Given the description of an element on the screen output the (x, y) to click on. 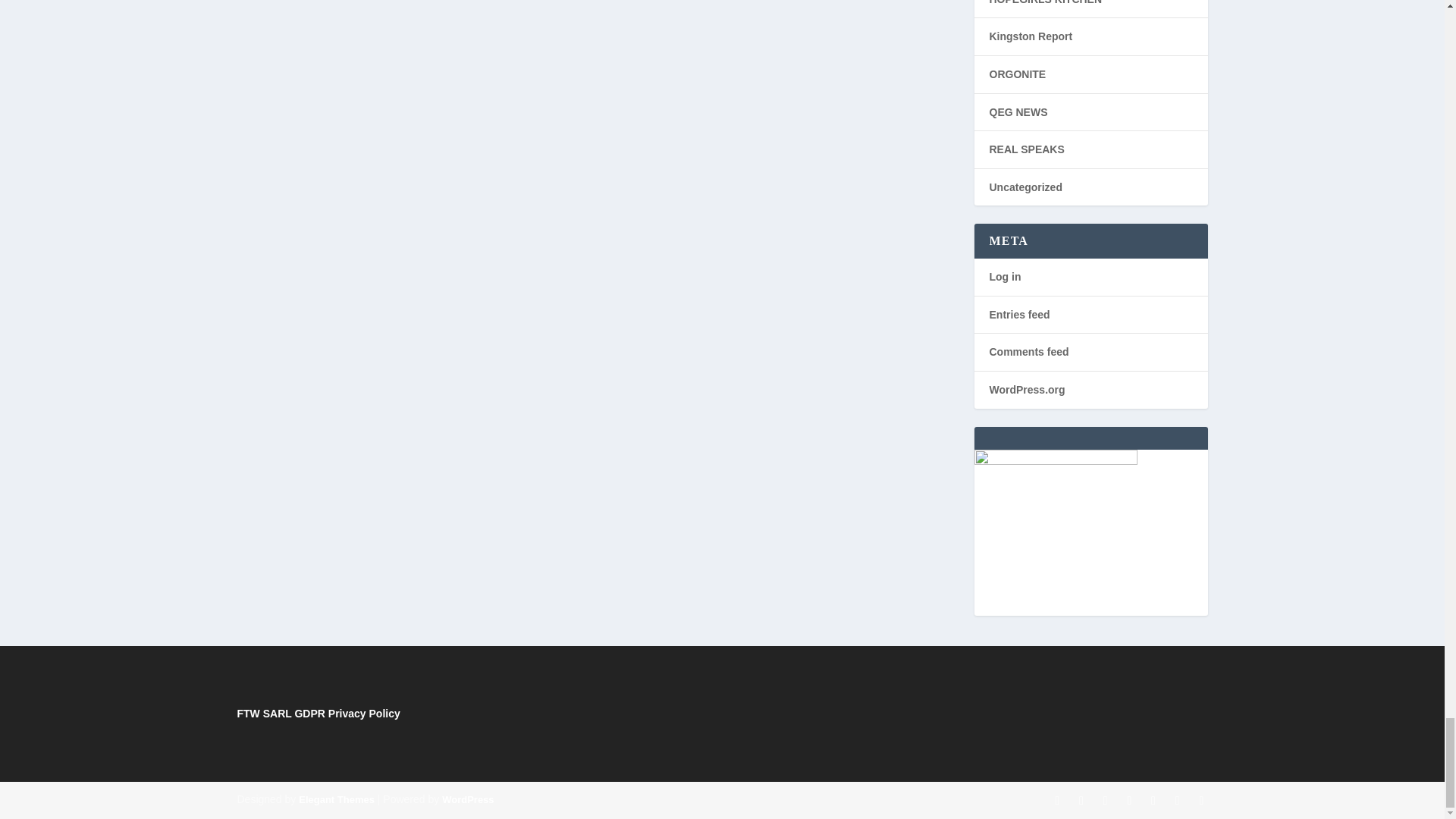
Latest updates on our QEG technology projects (1017, 111)
Premium WordPress Themes (336, 799)
